Given the description of an element on the screen output the (x, y) to click on. 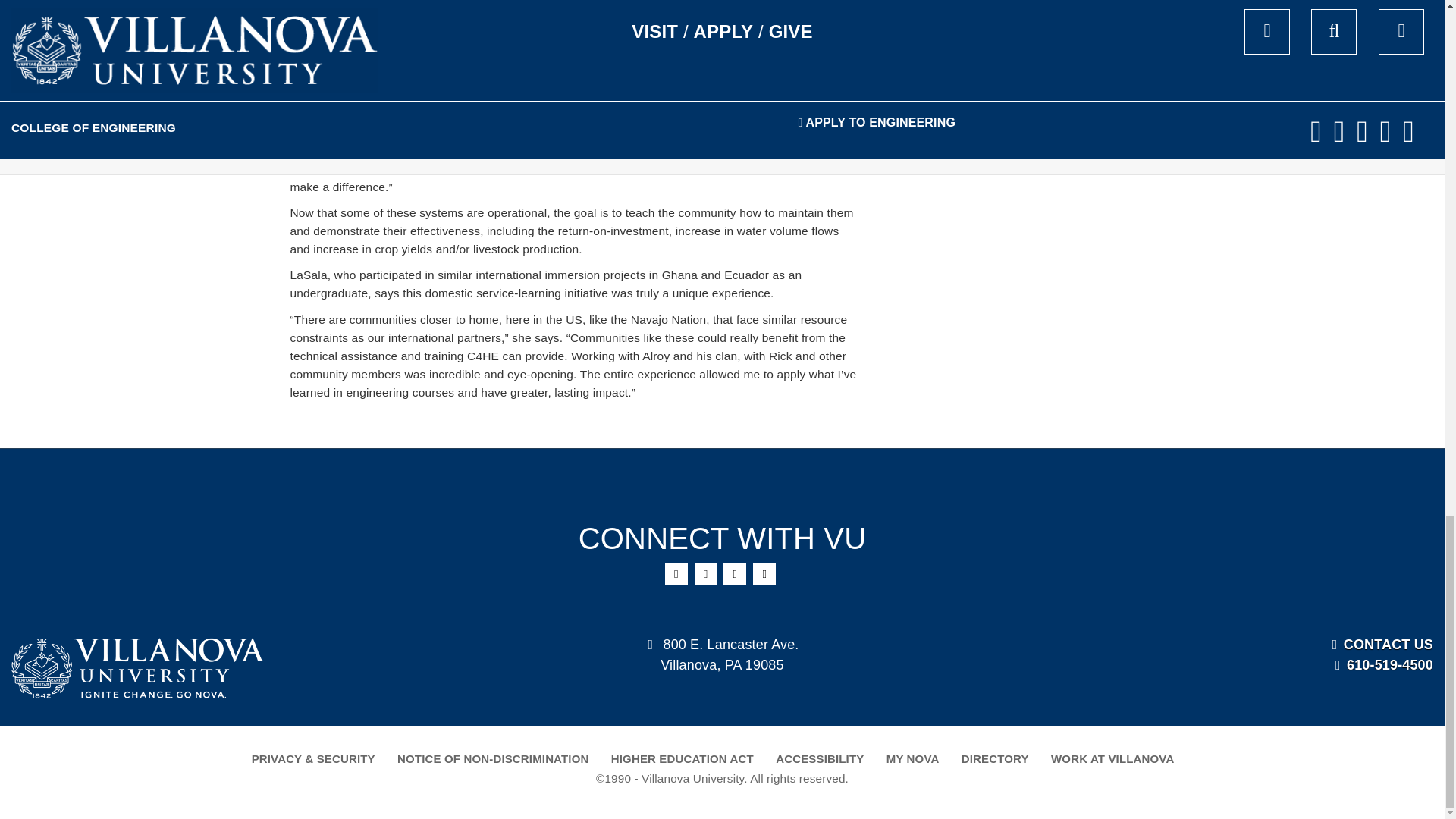
Villanova University (137, 668)
